Given the description of an element on the screen output the (x, y) to click on. 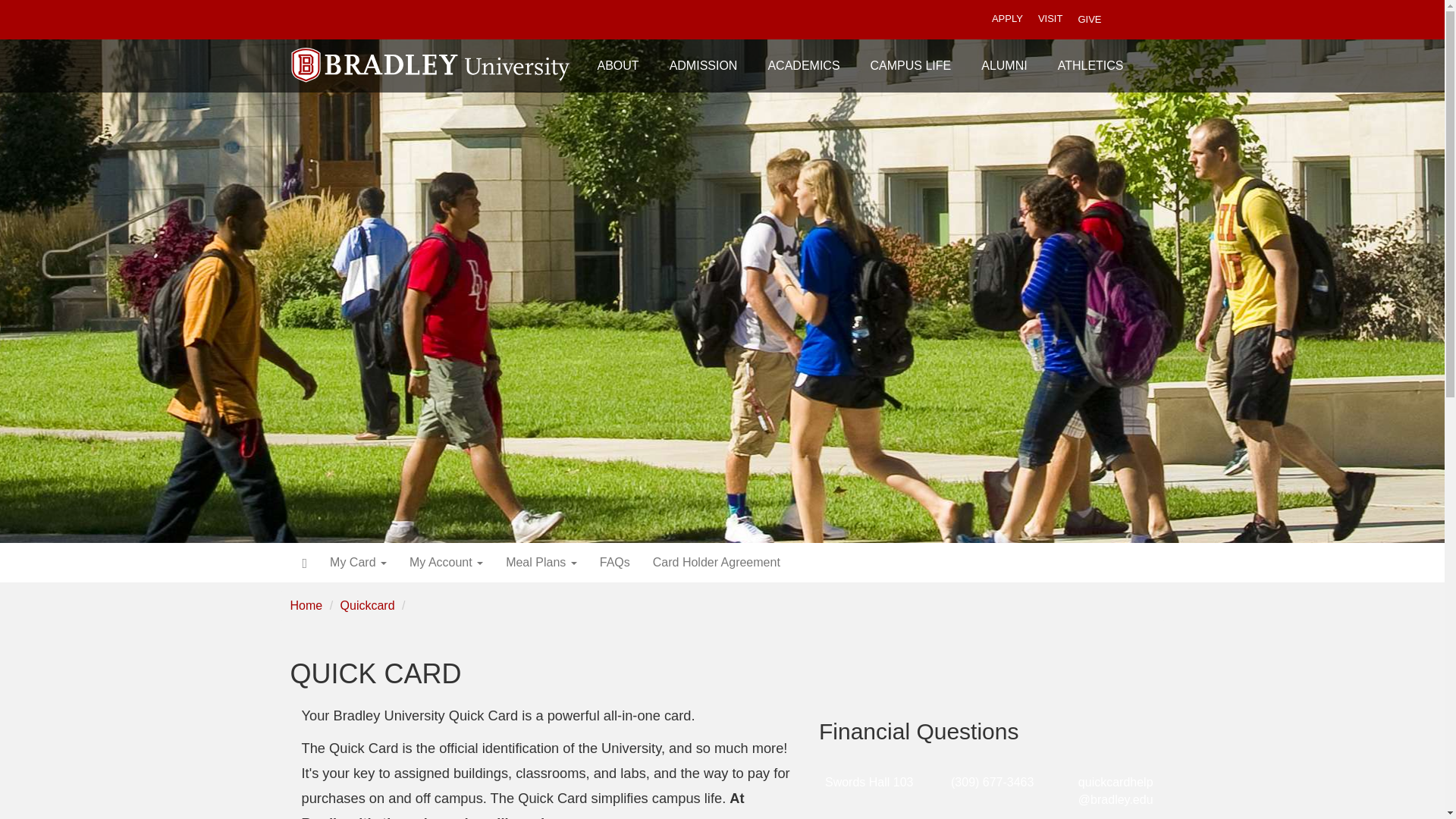
GIVE (1089, 19)
Bradley University (430, 55)
VISIT (1050, 19)
APPLY (1007, 19)
Bradley University (430, 55)
